Given the description of an element on the screen output the (x, y) to click on. 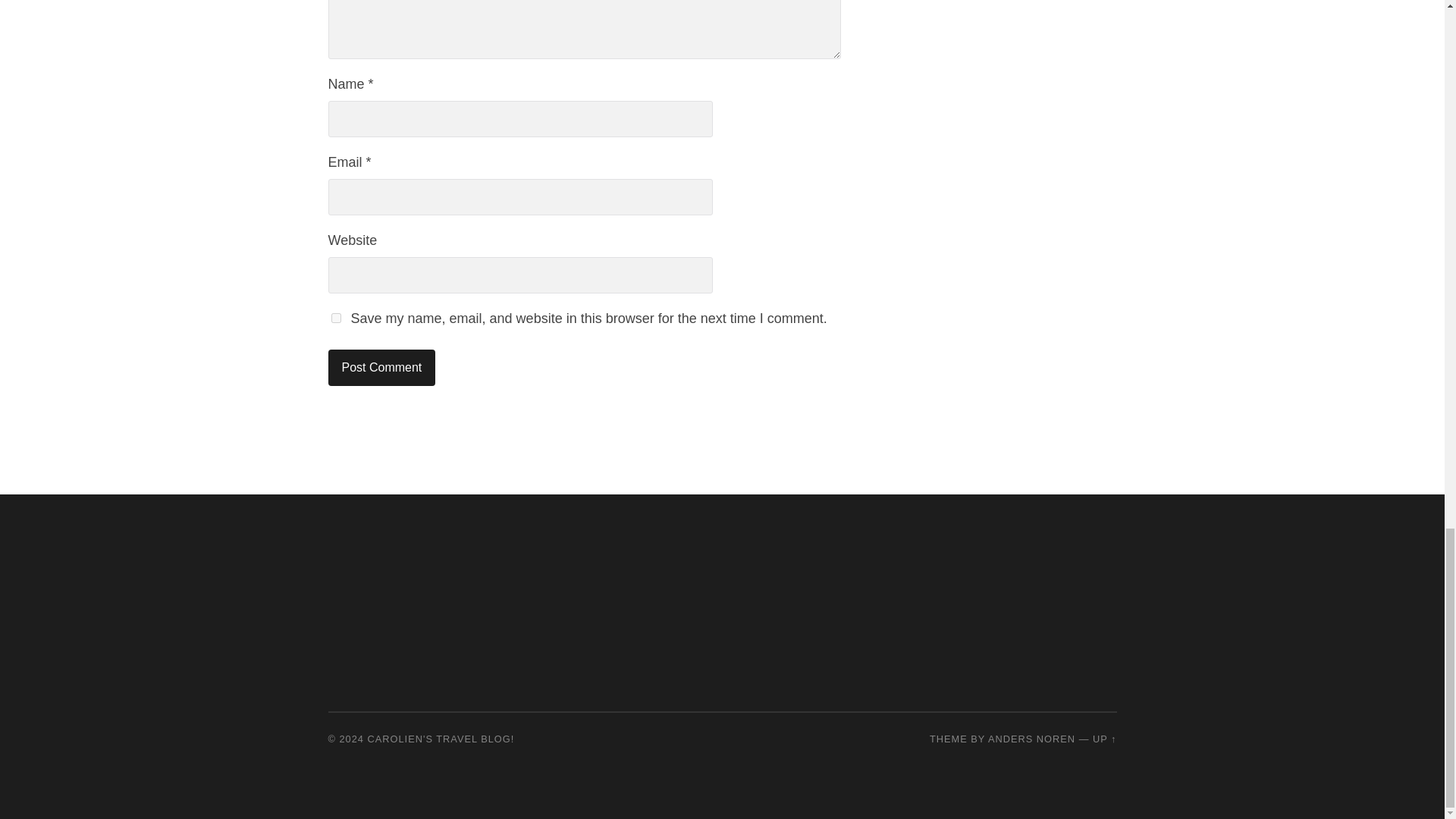
yes (335, 317)
Post Comment (381, 367)
Post Comment (381, 367)
To the top (1104, 738)
